Given the description of an element on the screen output the (x, y) to click on. 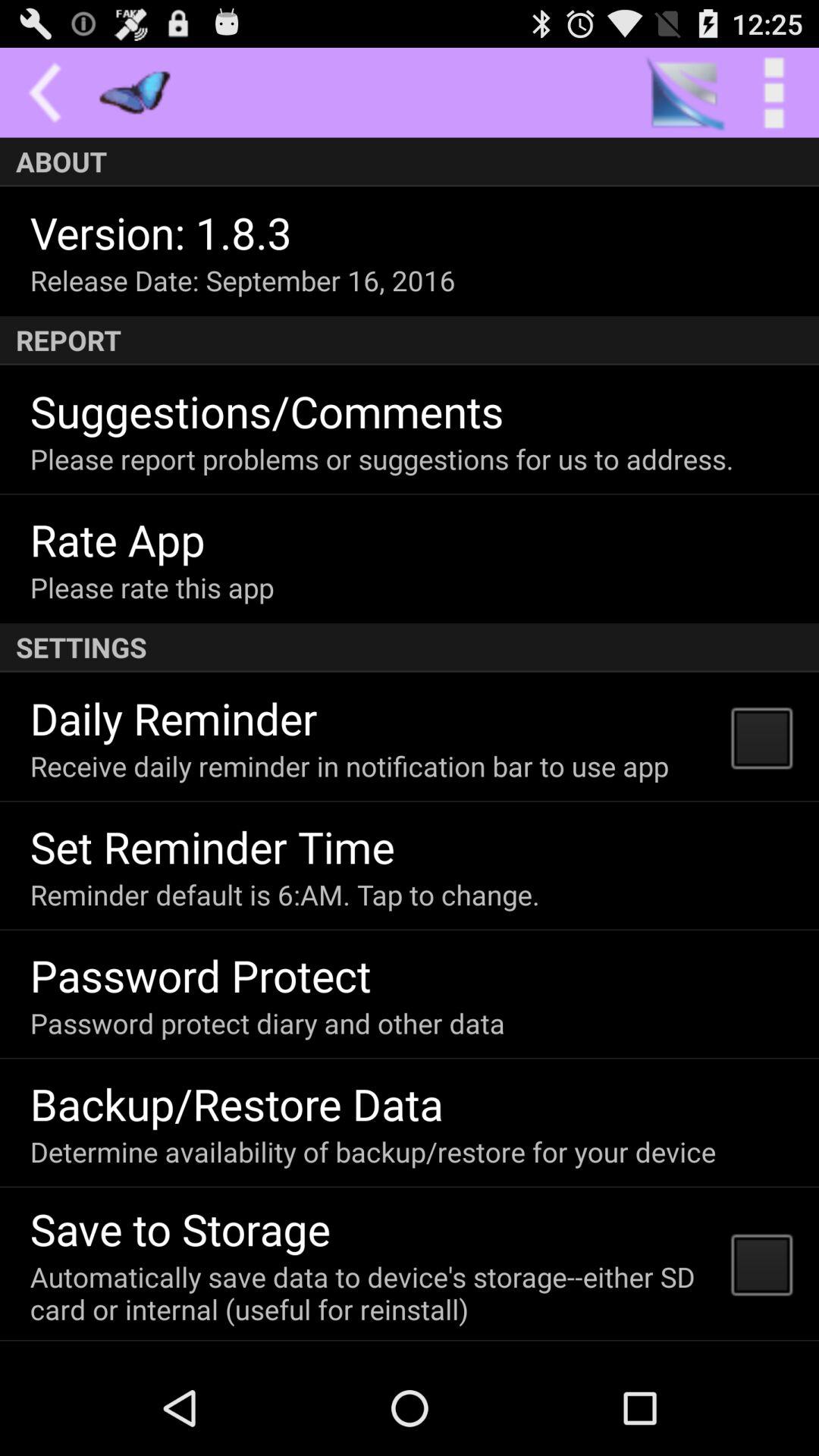
press the app below the report item (266, 410)
